Given the description of an element on the screen output the (x, y) to click on. 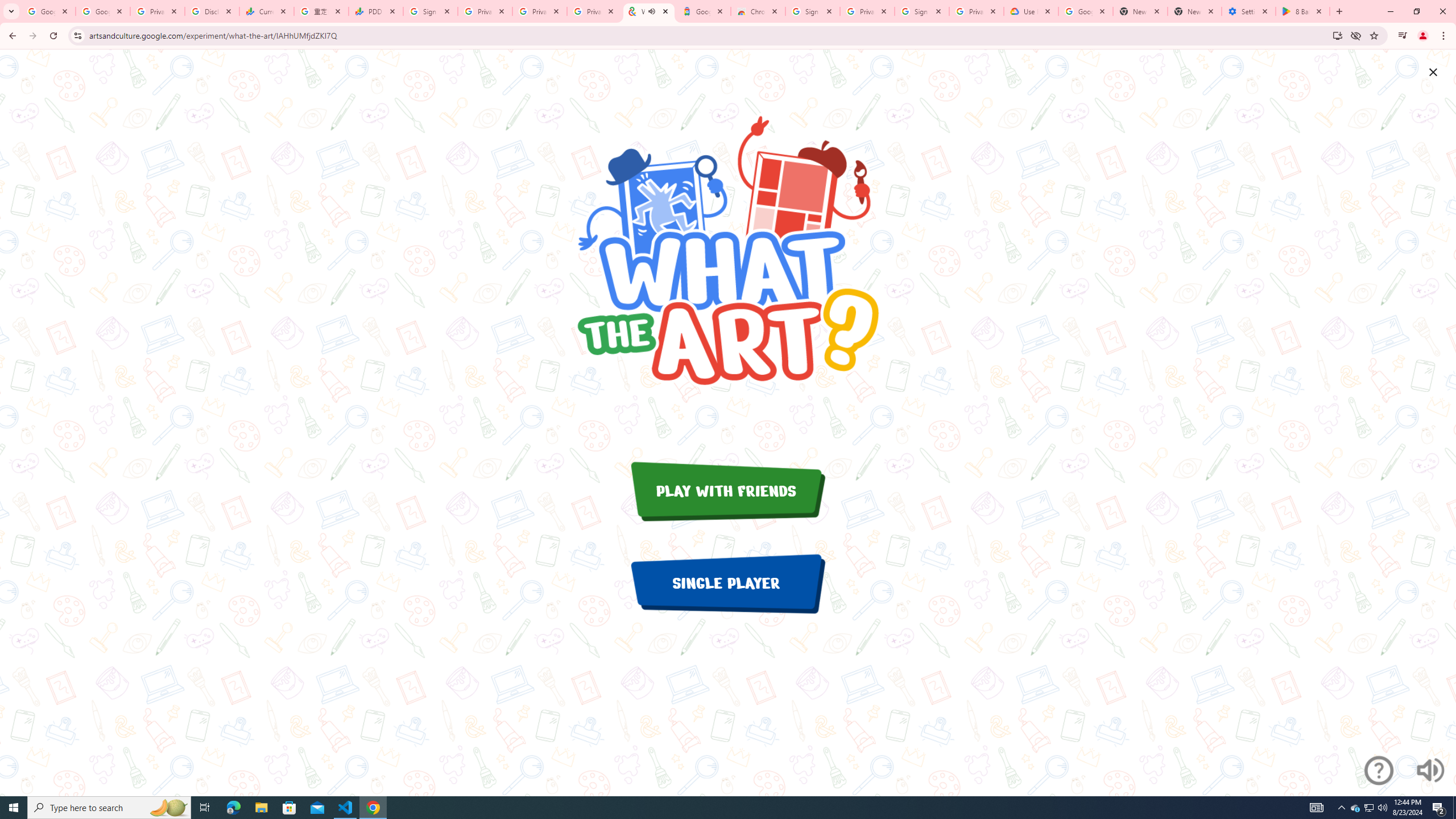
Sign in - Google Accounts (812, 11)
Currencies - Google Finance (266, 11)
PDD Holdings Inc - ADR (PDD) Price & News - Google Finance (375, 11)
